Given the description of an element on the screen output the (x, y) to click on. 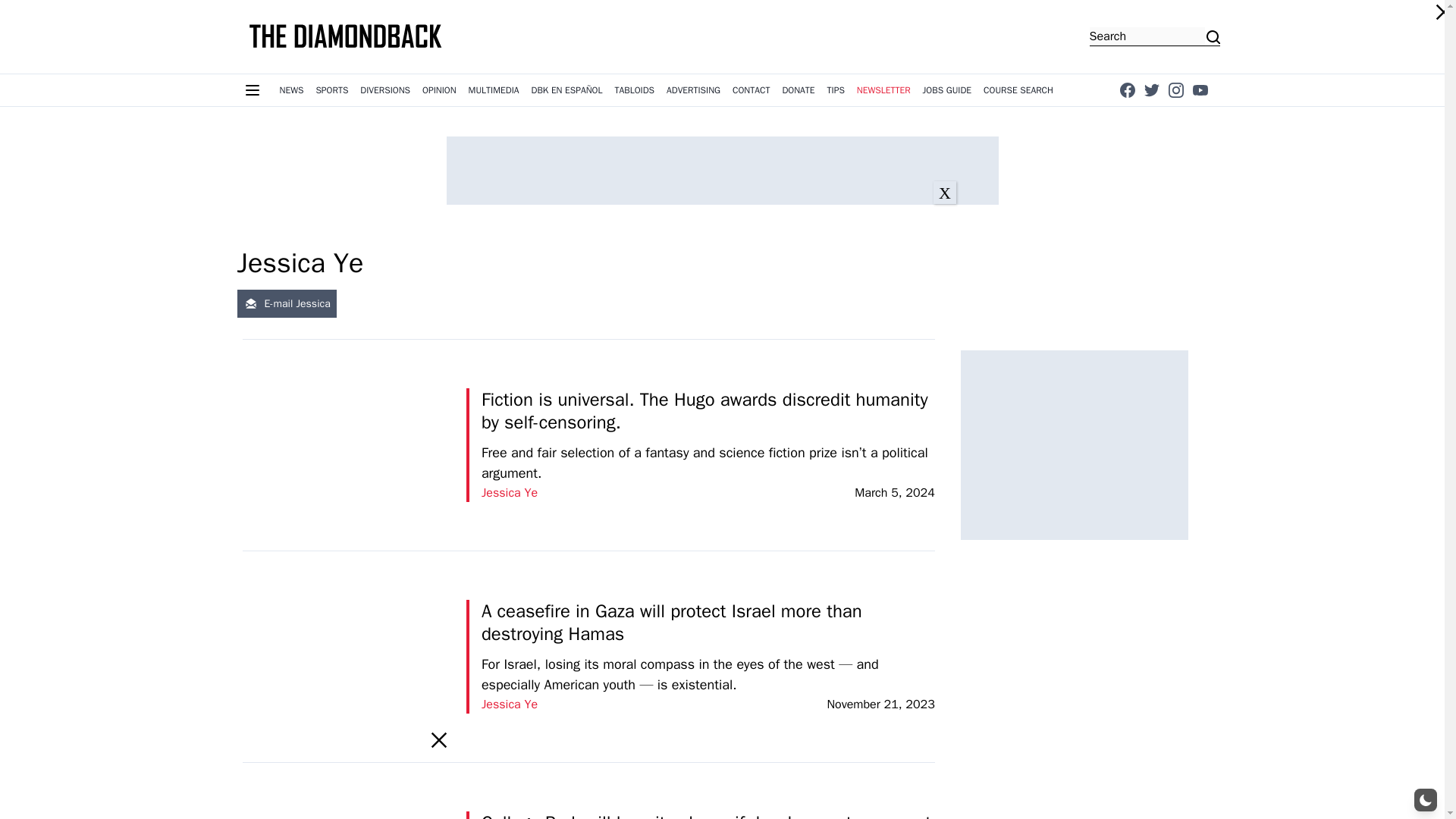
SPORTS (330, 90)
TIPS (835, 90)
Course Search (1017, 90)
OPINION (439, 90)
Newsletter (883, 90)
JOBS GUIDE (947, 90)
NEWSLETTER (883, 90)
Sports (330, 90)
TABLOIDS (634, 90)
The Diamondback on Facebook (1126, 89)
Jobs Guide (947, 90)
DONATE (798, 90)
Tips (835, 90)
Contact (751, 90)
MULTIMEDIA (494, 90)
